Given the description of an element on the screen output the (x, y) to click on. 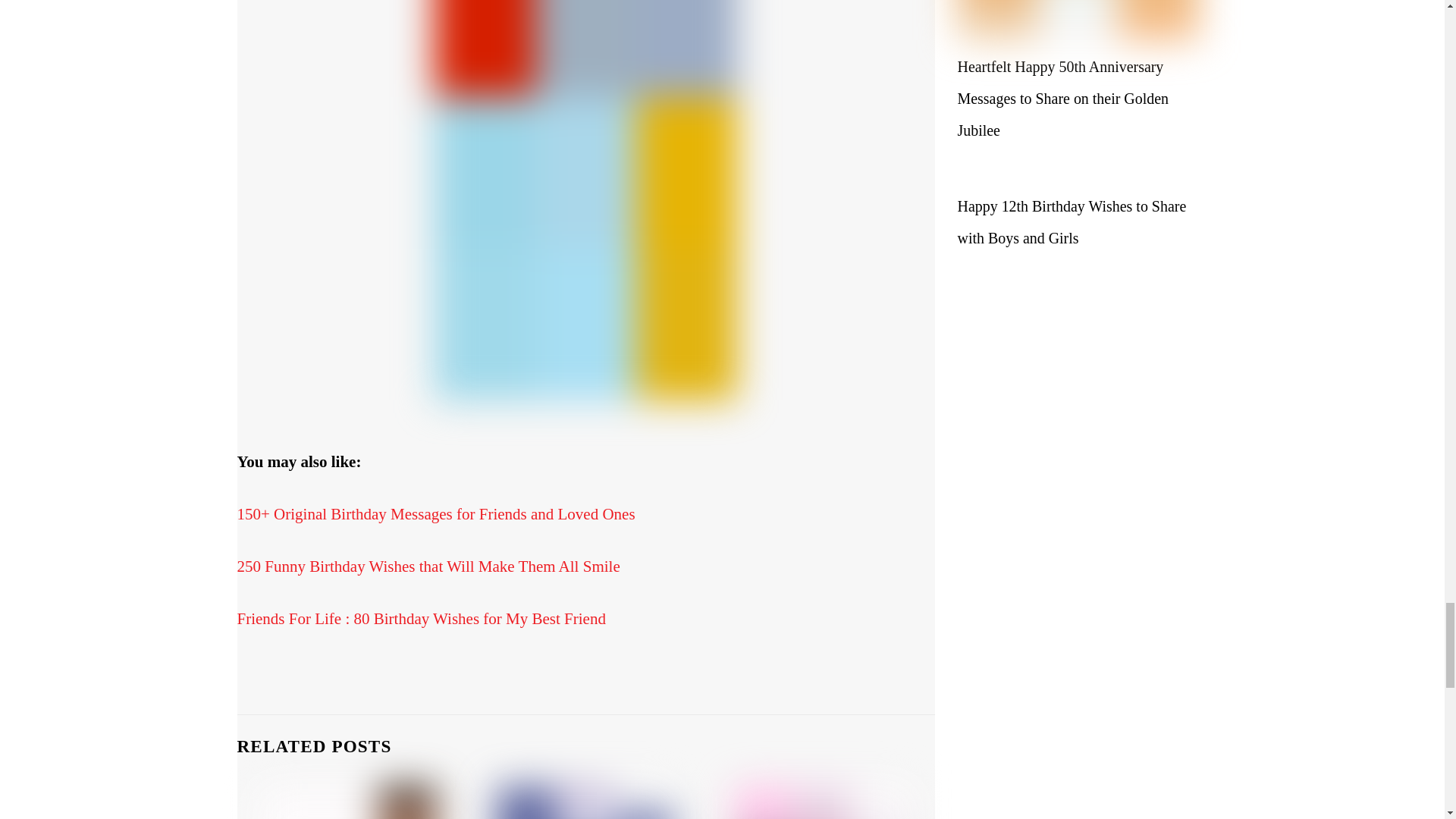
birthday-wishes-for-best-friend-female-social (585, 802)
birthday-greetings-for-a-friend-9 (822, 802)
Friends For Life : 80 Birthday Wishes for My Best Friend (420, 618)
birthday-speech (348, 802)
Friends For Life : 80 Birthday Wishes for My Best Friend (420, 618)
250 Funny Birthday Wishes that Will Make Them All Smile (427, 566)
250 Funny Birthday Wishes that Will Make Them All Smile (427, 566)
